Given the description of an element on the screen output the (x, y) to click on. 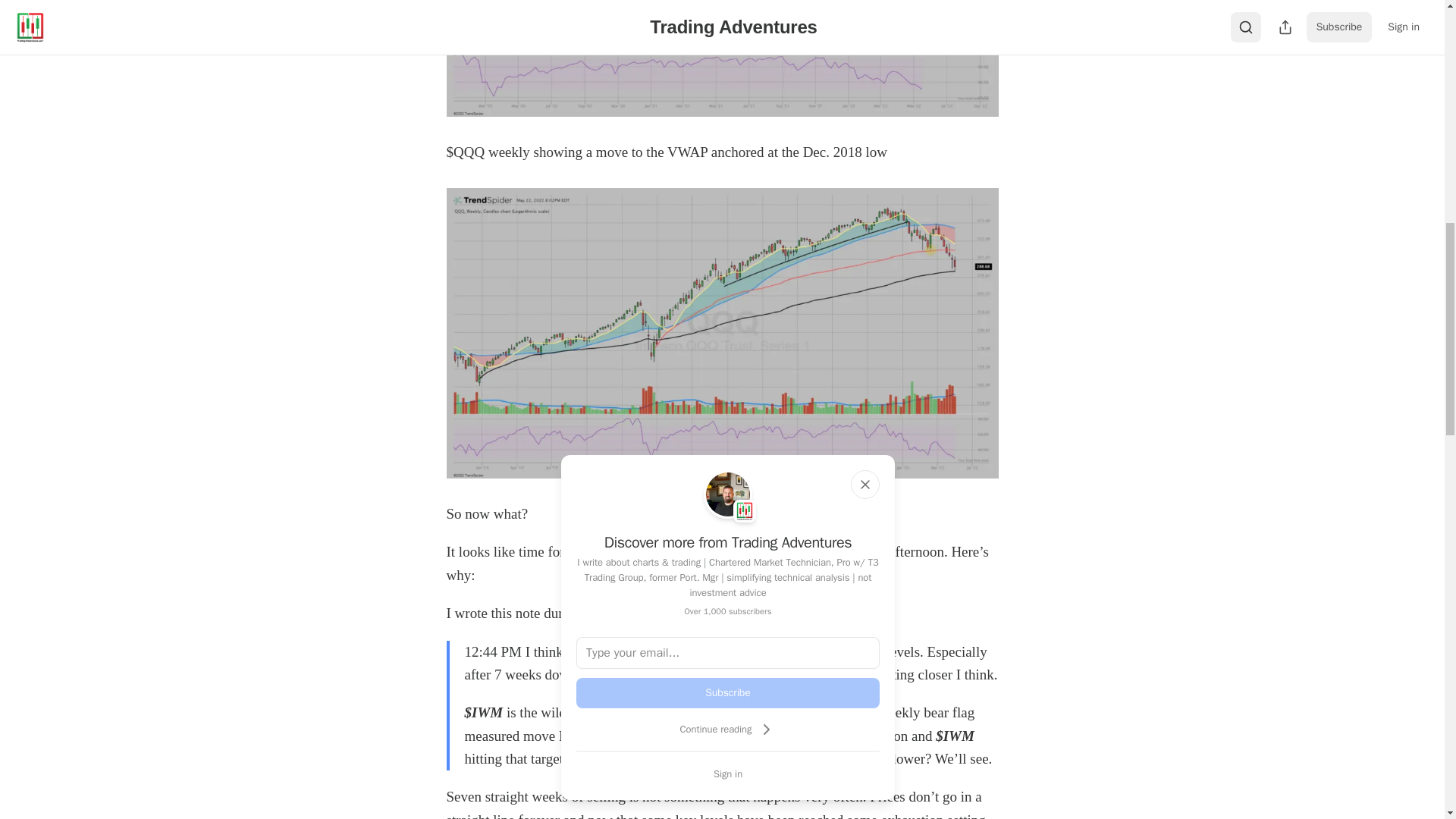
Sign in (727, 773)
Subscribe (727, 693)
